Given the description of an element on the screen output the (x, y) to click on. 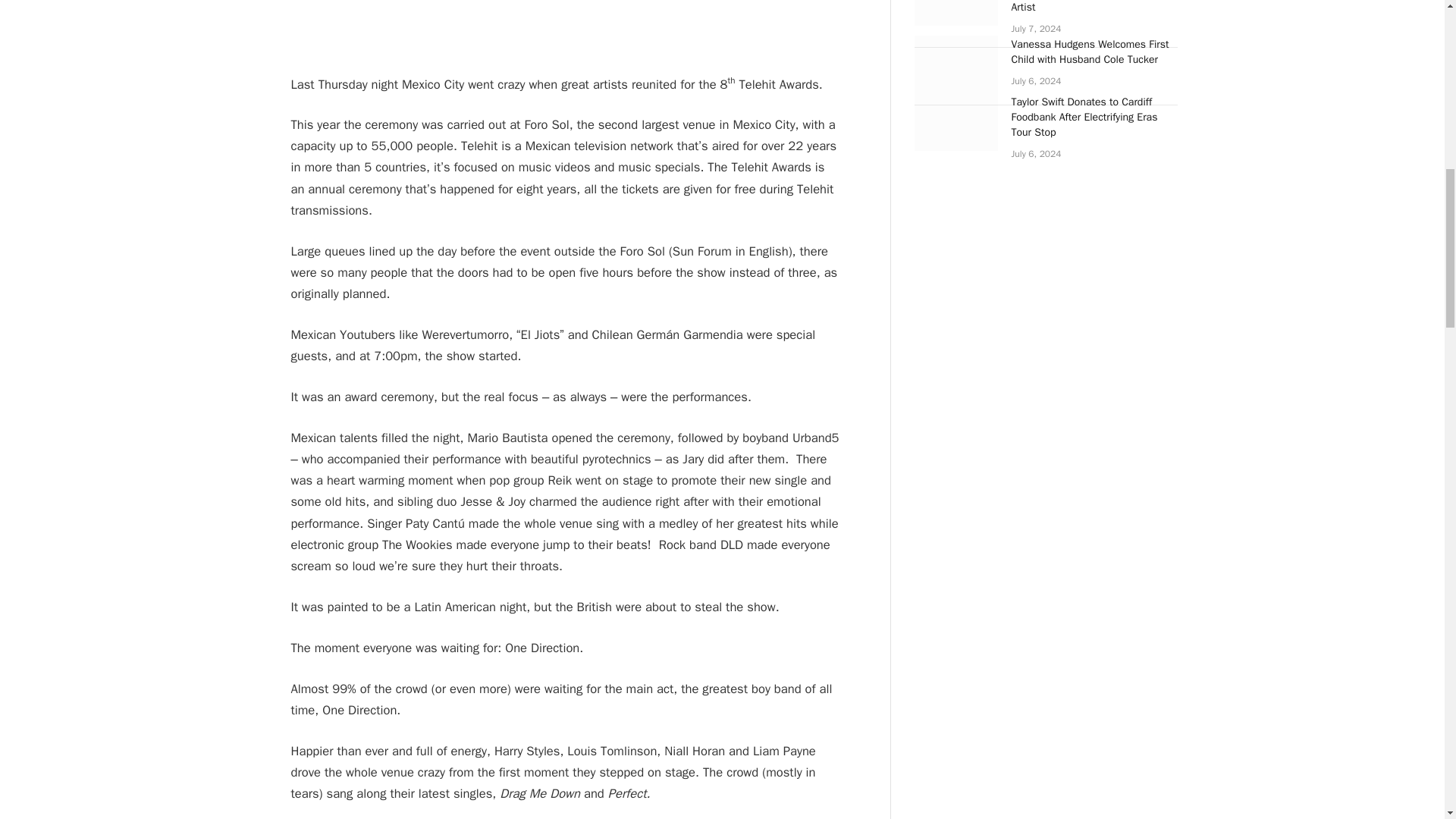
Telehit Awards 2015: One Direction and more (565, 24)
